Given the description of an element on the screen output the (x, y) to click on. 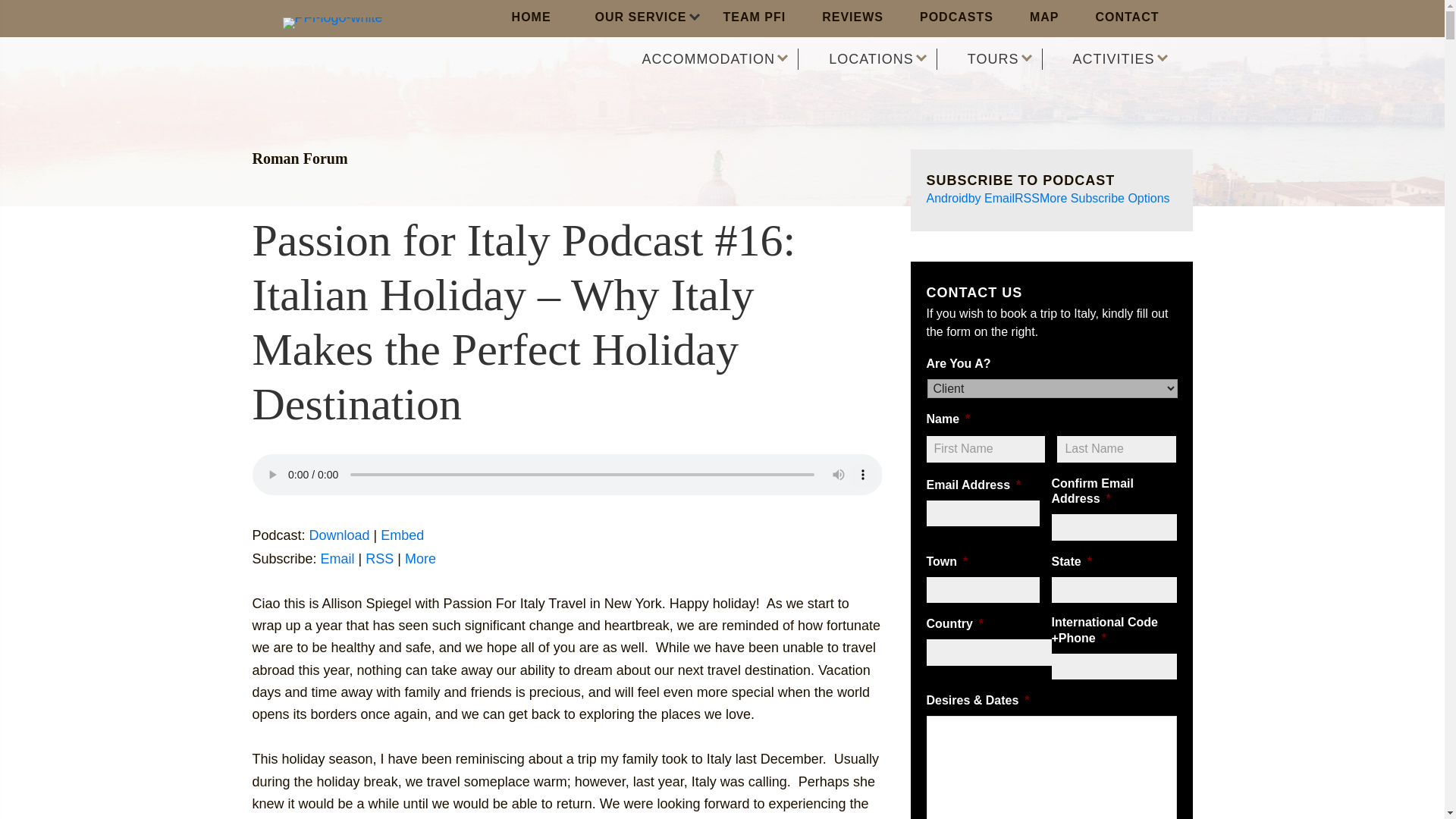
Download (338, 534)
Subscribe via RSS (1026, 197)
Embed (401, 534)
LOCATIONS (879, 58)
OUR SERVICE (637, 18)
Subscribe via RSS (379, 557)
HOME (531, 18)
Subscribe by Email (337, 557)
CONTACT (1126, 18)
More Subscribe Options (1104, 197)
More (419, 557)
Subscribe by Email (991, 197)
TOURS (1000, 58)
ACCOMMODATION (715, 58)
